Given the description of an element on the screen output the (x, y) to click on. 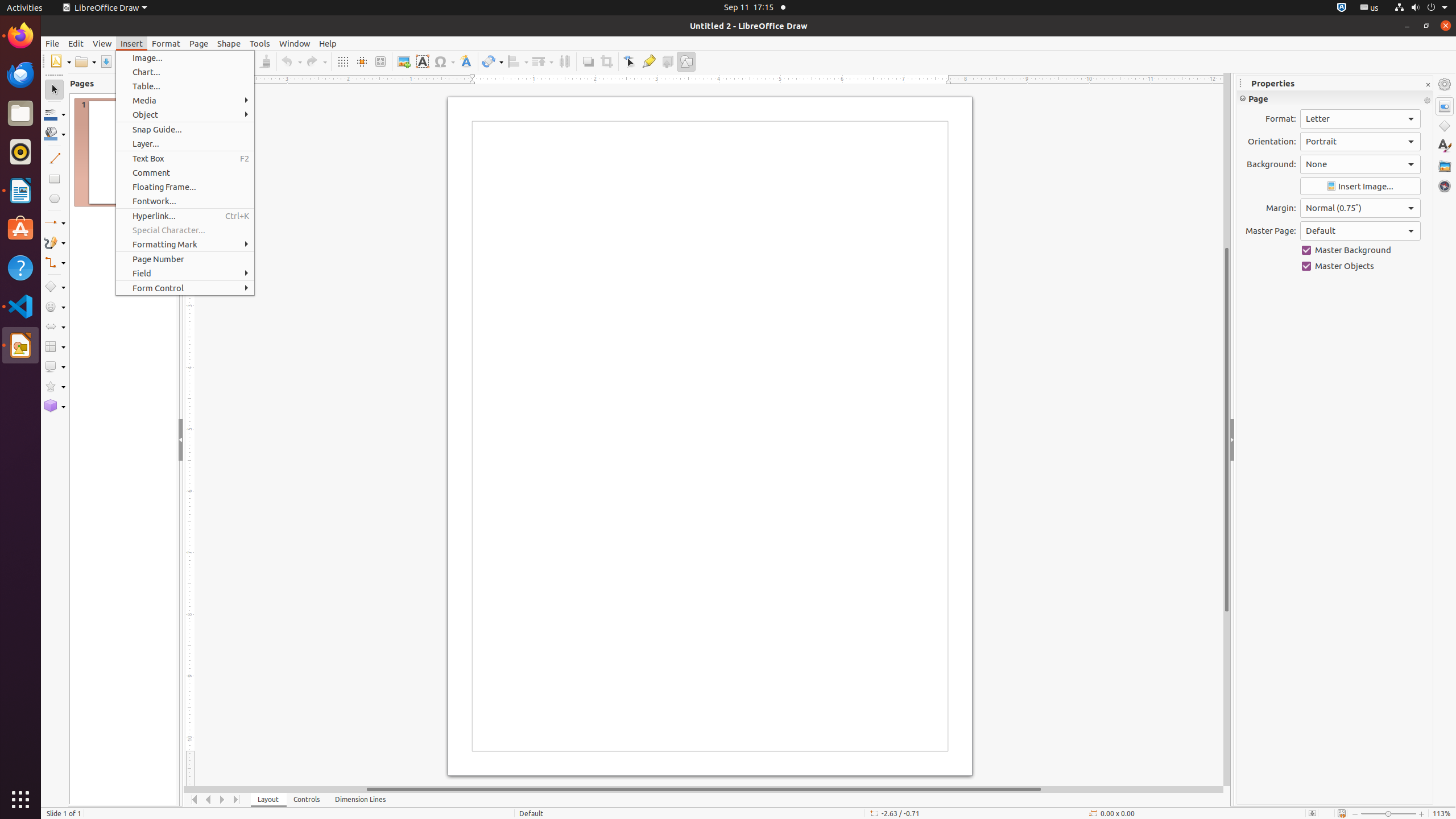
Dimension Lines Element type: page-tab (360, 799)
Move To End Element type: push-button (236, 799)
Move Left Element type: push-button (208, 799)
Ubuntu Software Element type: push-button (20, 229)
Connectors Element type: push-button (54, 262)
